Given the description of an element on the screen output the (x, y) to click on. 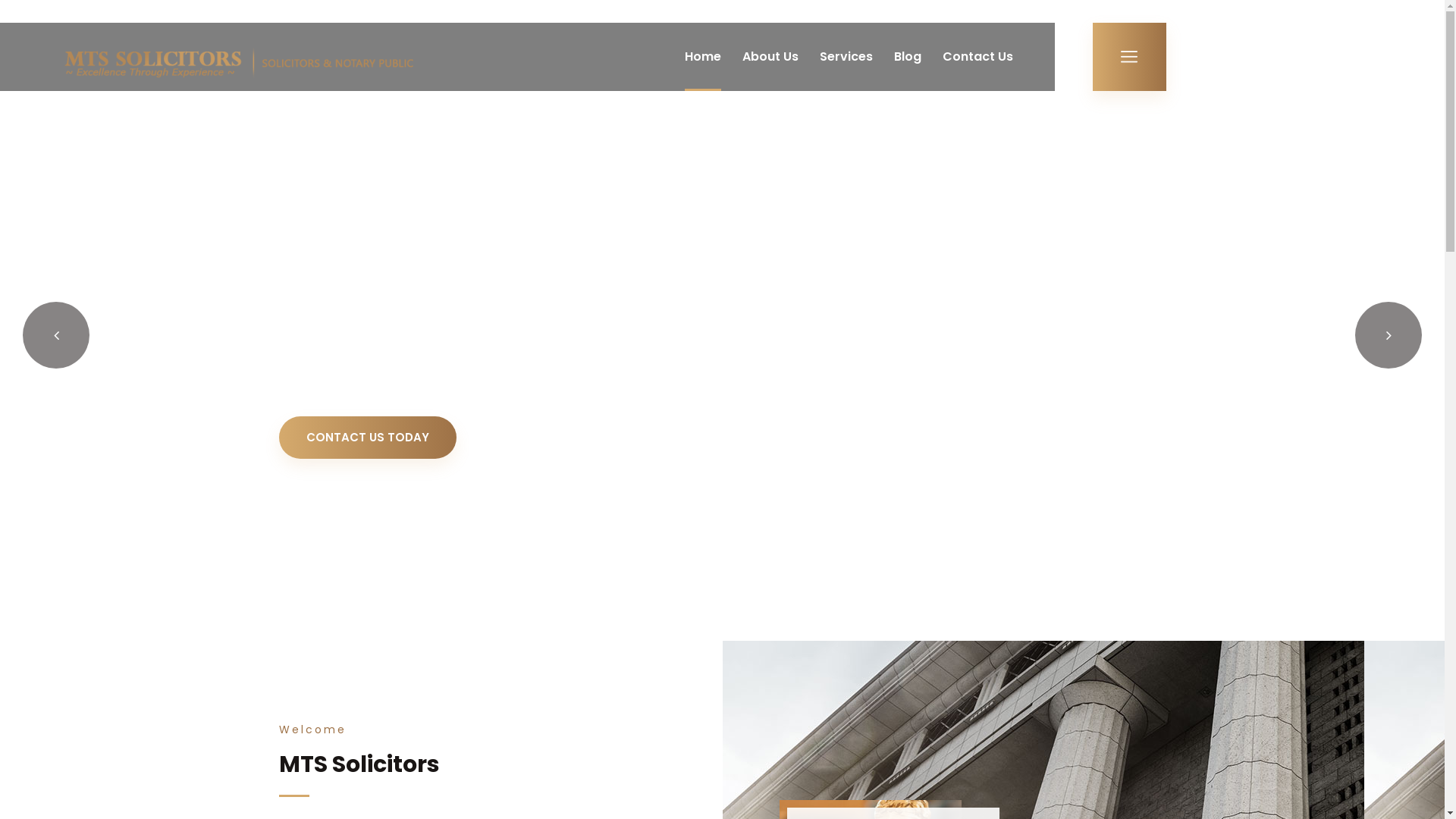
Contact Us Element type: text (976, 56)
Blog Element type: text (906, 56)
CONTACT US TODAY Element type: text (367, 437)
Services Element type: text (845, 56)
Home Element type: text (702, 56)
About Us Element type: text (769, 56)
